Given the description of an element on the screen output the (x, y) to click on. 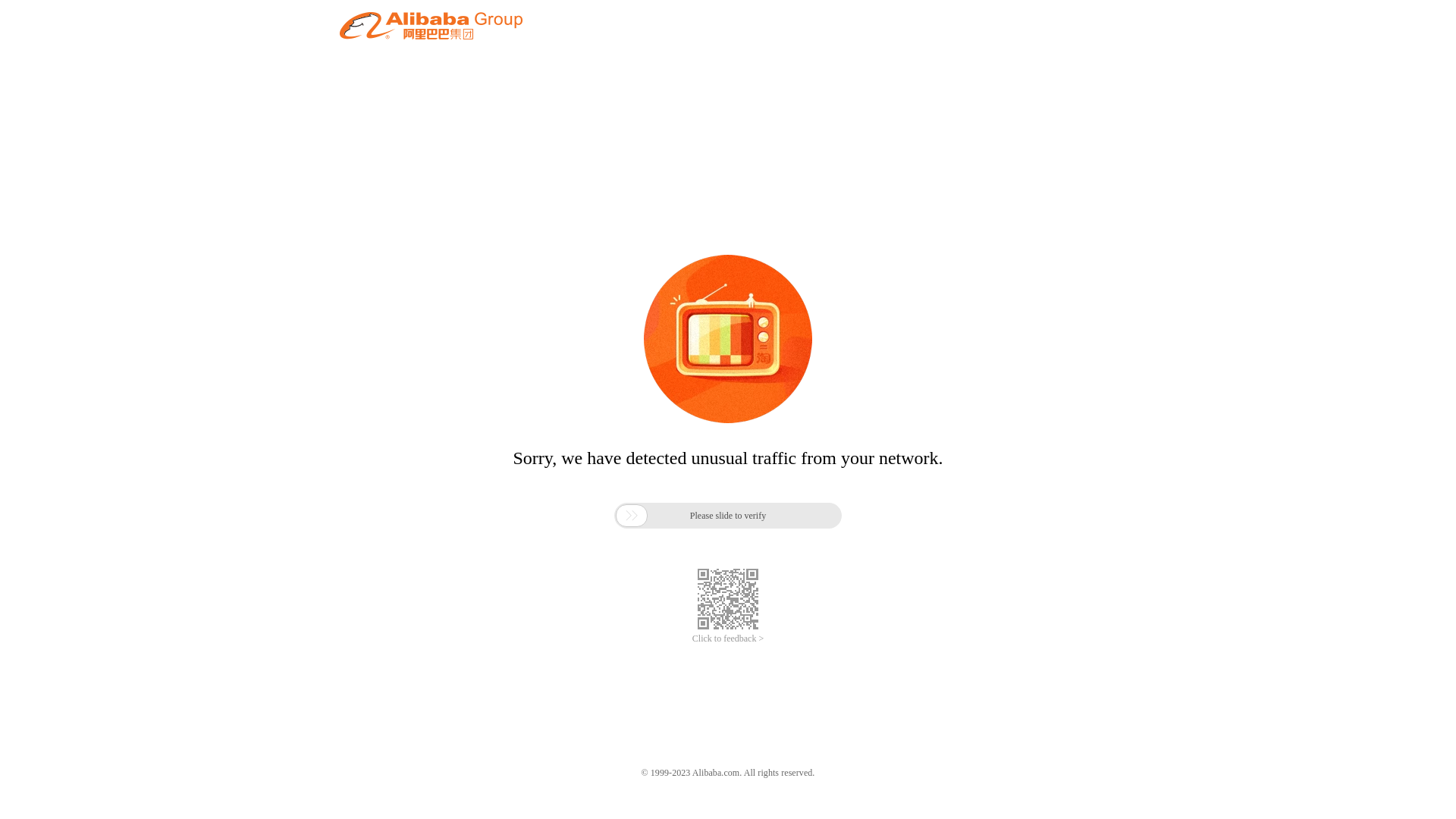
Click to feedback > Element type: text (727, 638)
